Given the description of an element on the screen output the (x, y) to click on. 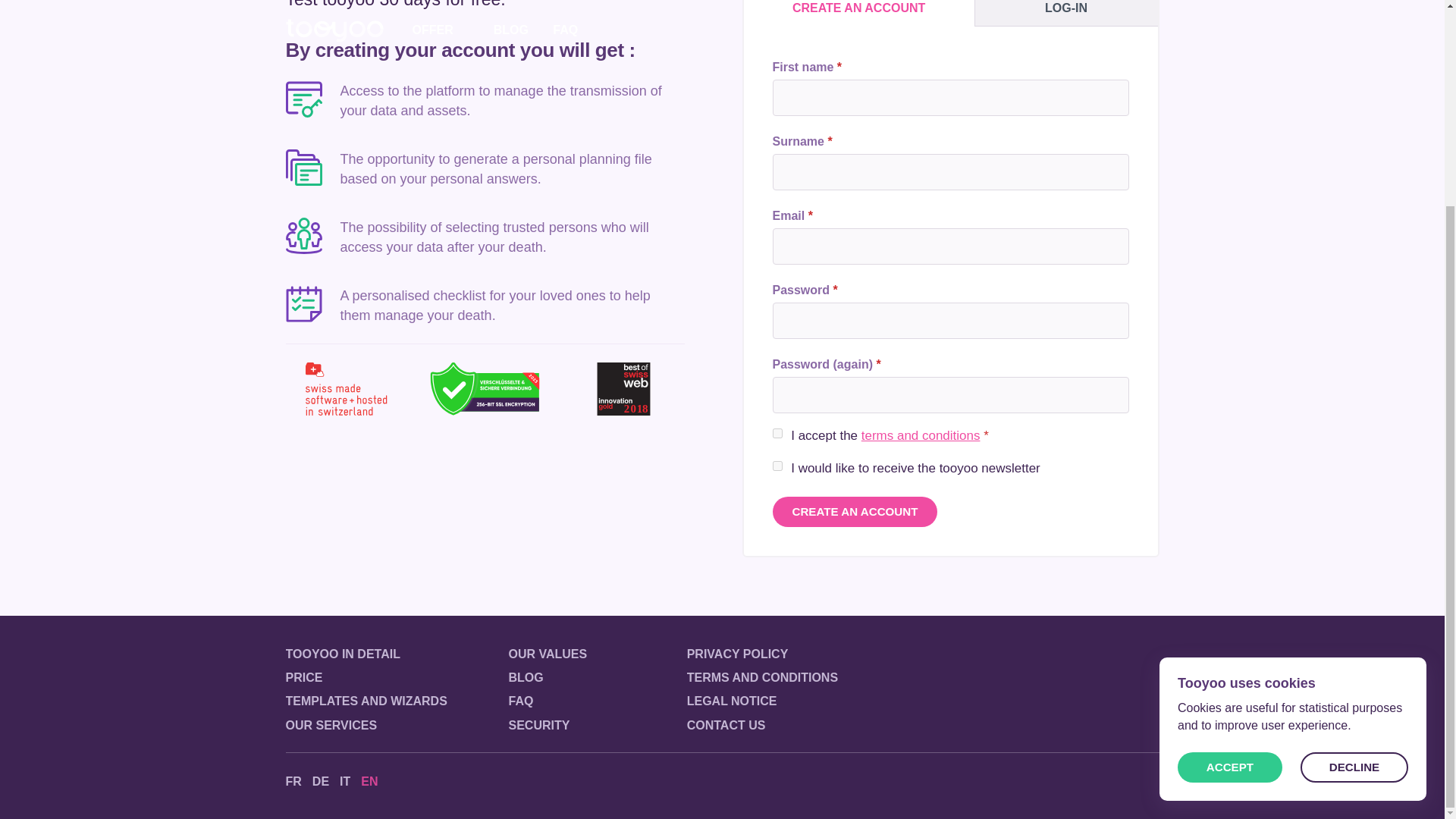
BLOG (525, 677)
SECURITY (538, 724)
CONTACT US (726, 724)
ACCEPT (1229, 501)
LEGAL NOTICE (732, 701)
CREATE AN ACCOUNT (858, 13)
PRIVACY POLICY (738, 653)
TERMS AND CONDITIONS (762, 677)
Follow us on Youtube (1149, 780)
Follow us on LinkedIn (1120, 780)
Follow us on Instagram (1091, 780)
DE (321, 781)
on (776, 433)
on (776, 465)
LOG-IN (1066, 13)
